Given the description of an element on the screen output the (x, y) to click on. 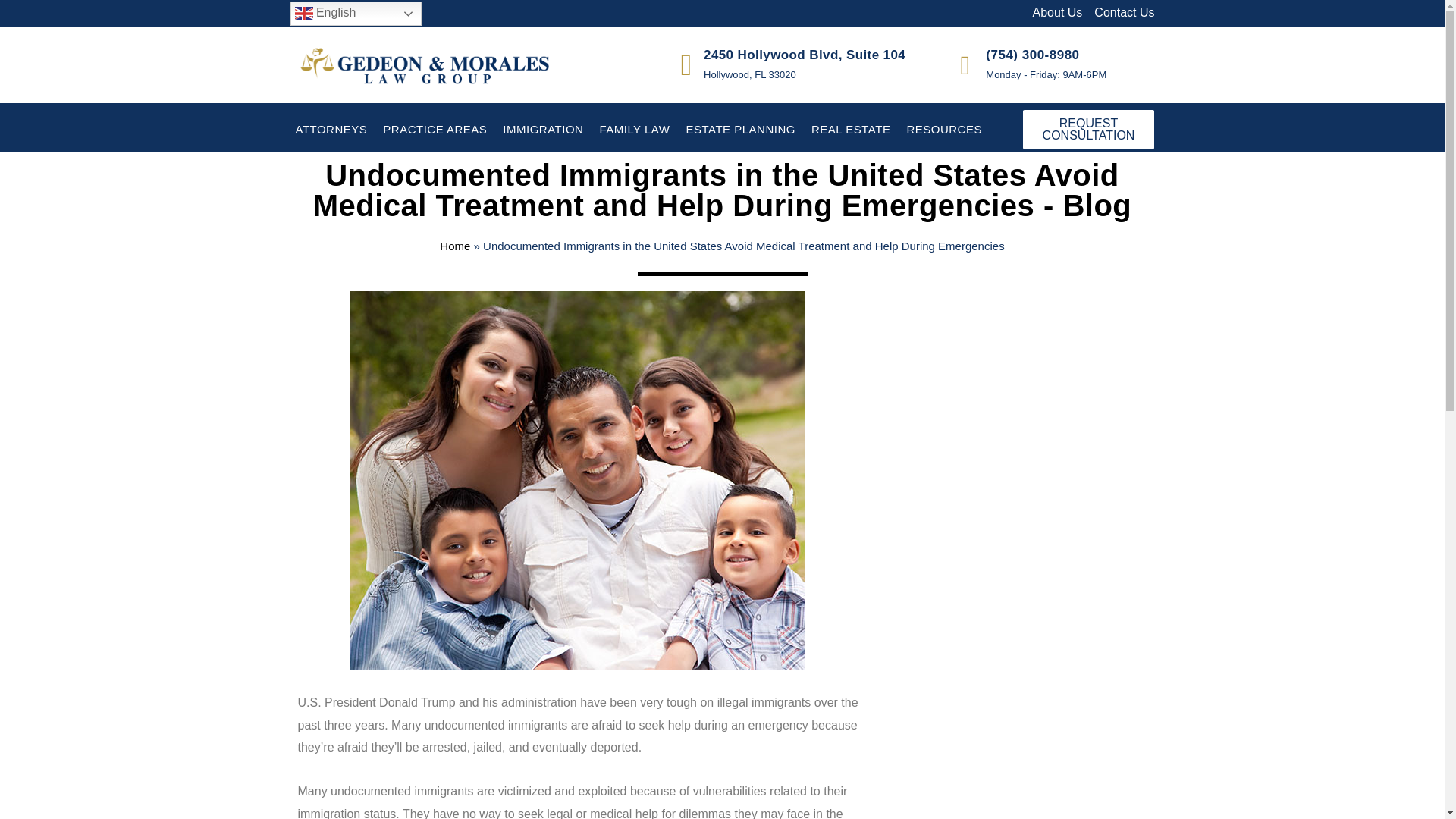
IMMIGRATION (542, 129)
ATTORNEYS (330, 129)
RESOURCES (944, 129)
Contact Us (1124, 12)
English (354, 13)
About Us (1057, 12)
REAL ESTATE (850, 129)
FAMILY LAW (634, 129)
PRACTICE AREAS (434, 129)
ESTATE PLANNING (739, 129)
2450 Hollywood Blvd, Suite 104 (804, 54)
